Given the description of an element on the screen output the (x, y) to click on. 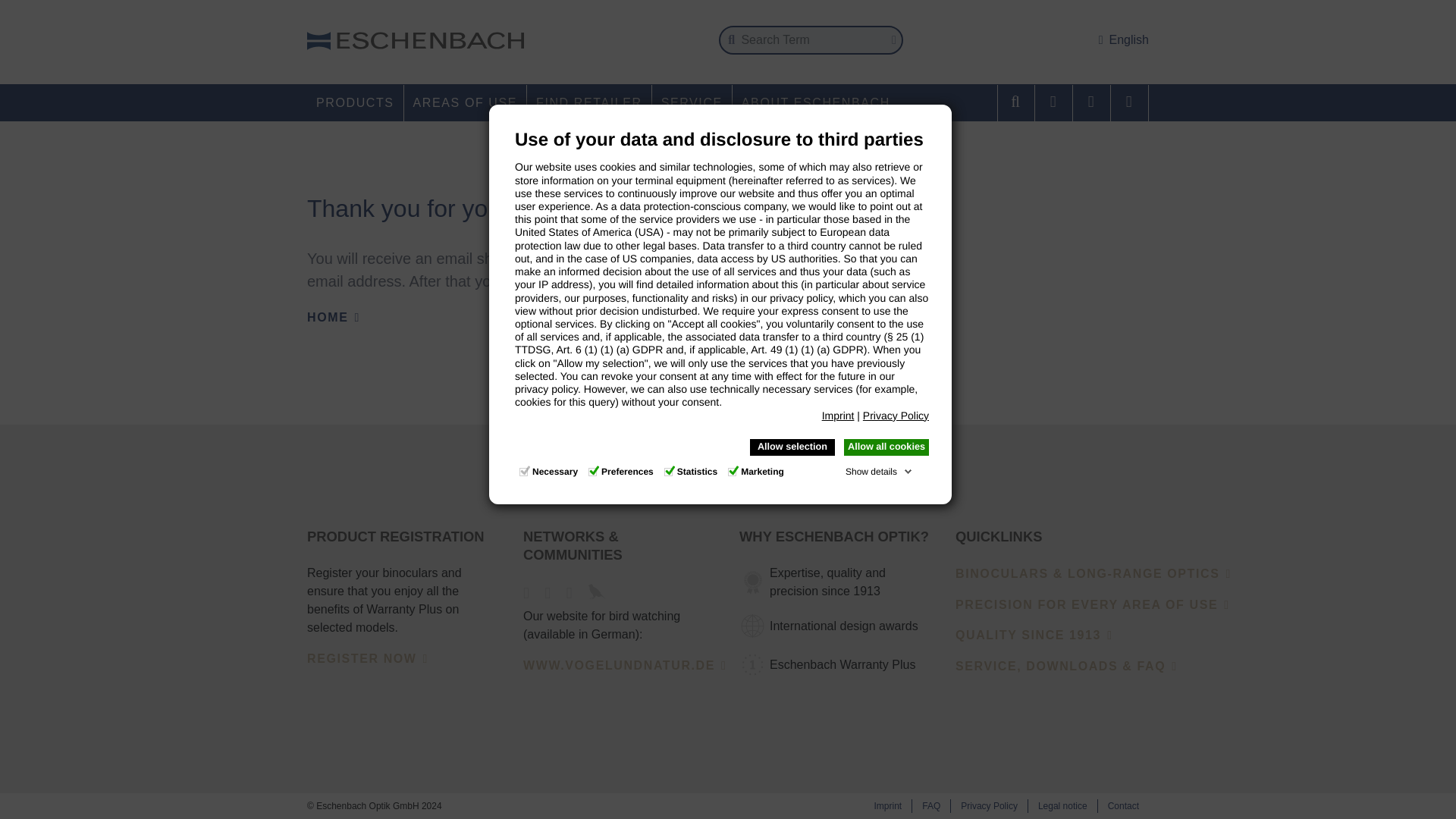
Show details (879, 468)
Allow all cookies (886, 443)
Imprint (838, 412)
Allow selection (791, 443)
Privacy Policy (895, 412)
